Given the description of an element on the screen output the (x, y) to click on. 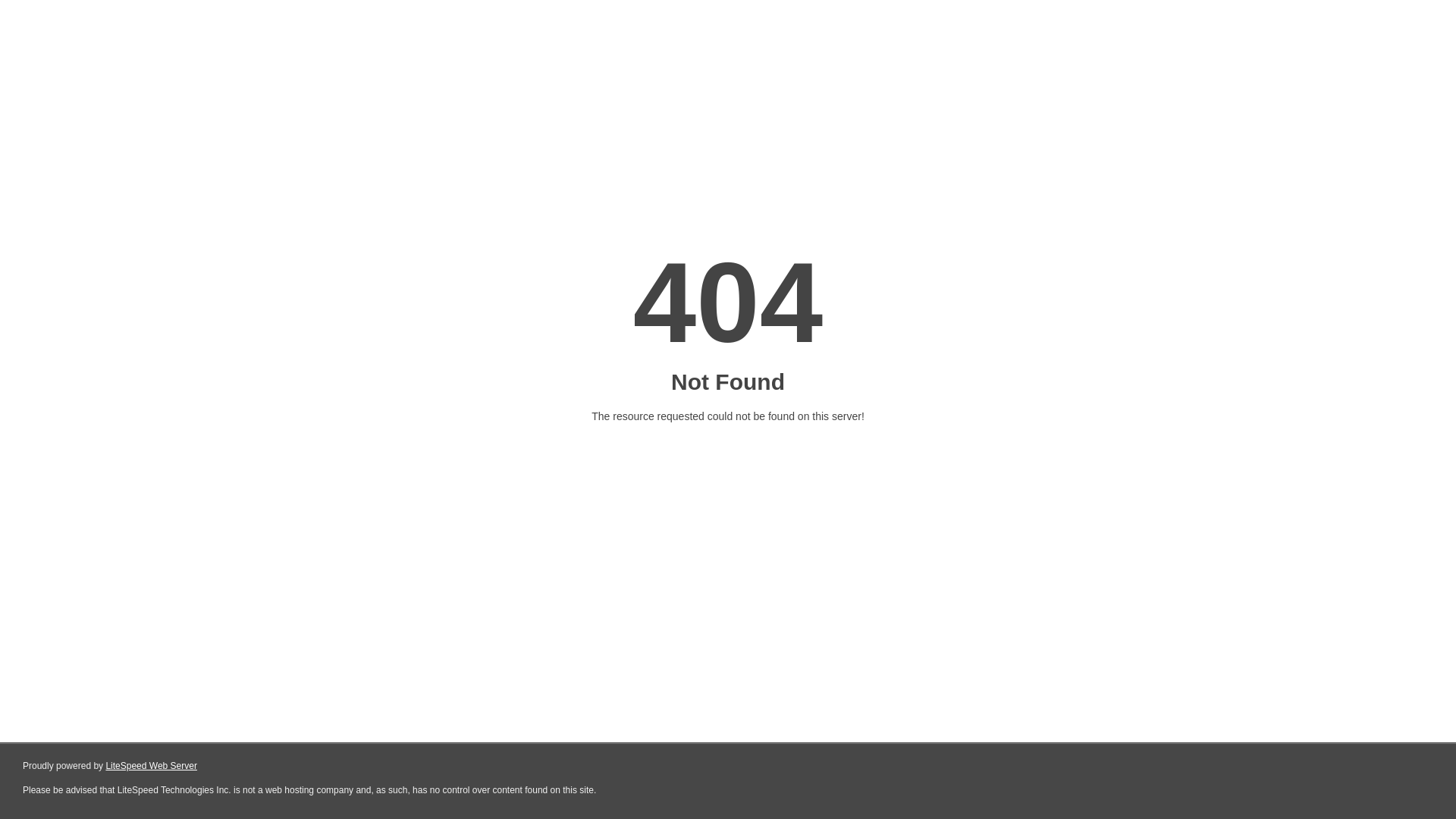
LiteSpeed Web Server Element type: text (151, 765)
